Given the description of an element on the screen output the (x, y) to click on. 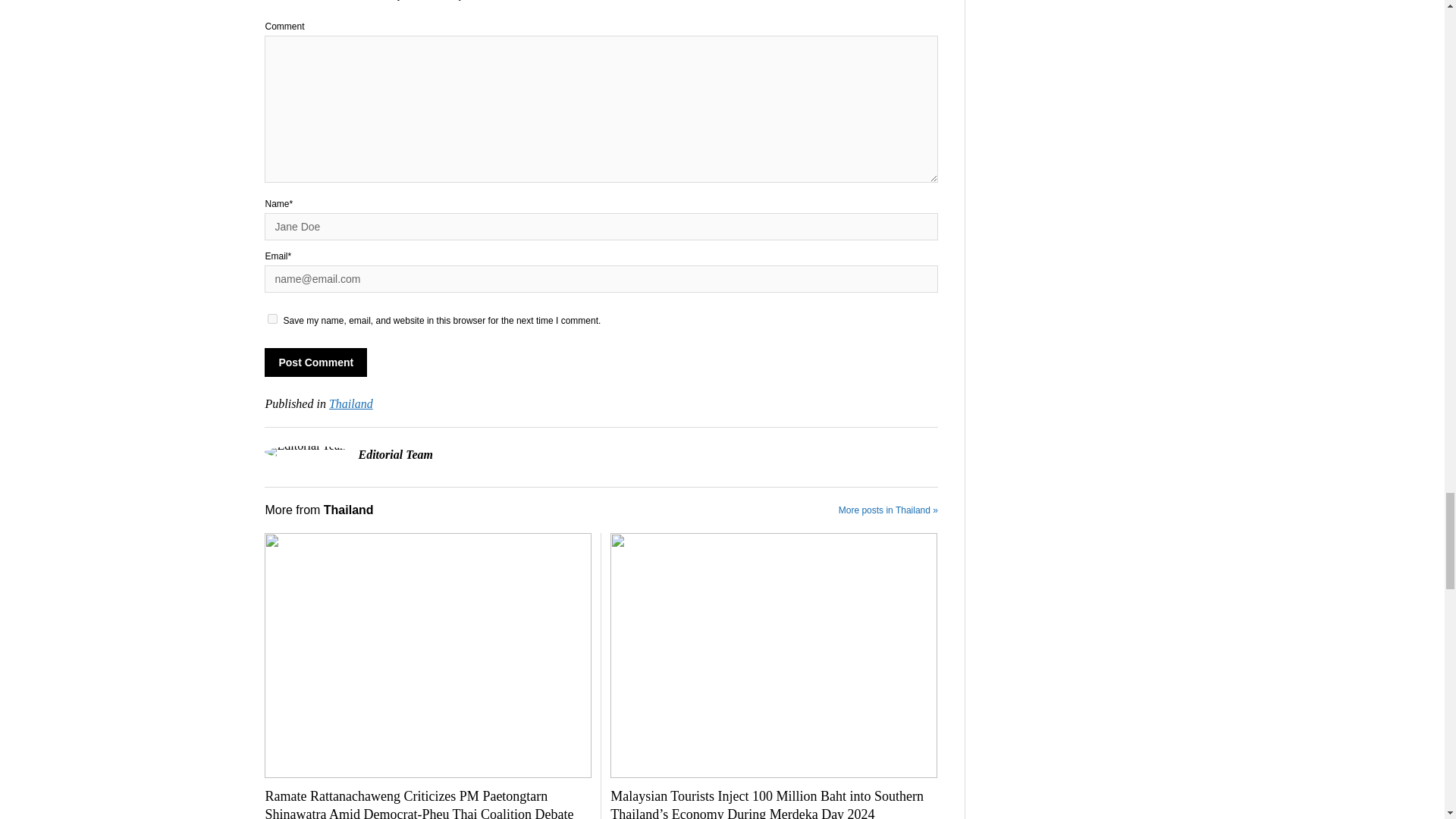
yes (272, 318)
View all posts in Thailand (350, 403)
Post Comment (315, 362)
